Given the description of an element on the screen output the (x, y) to click on. 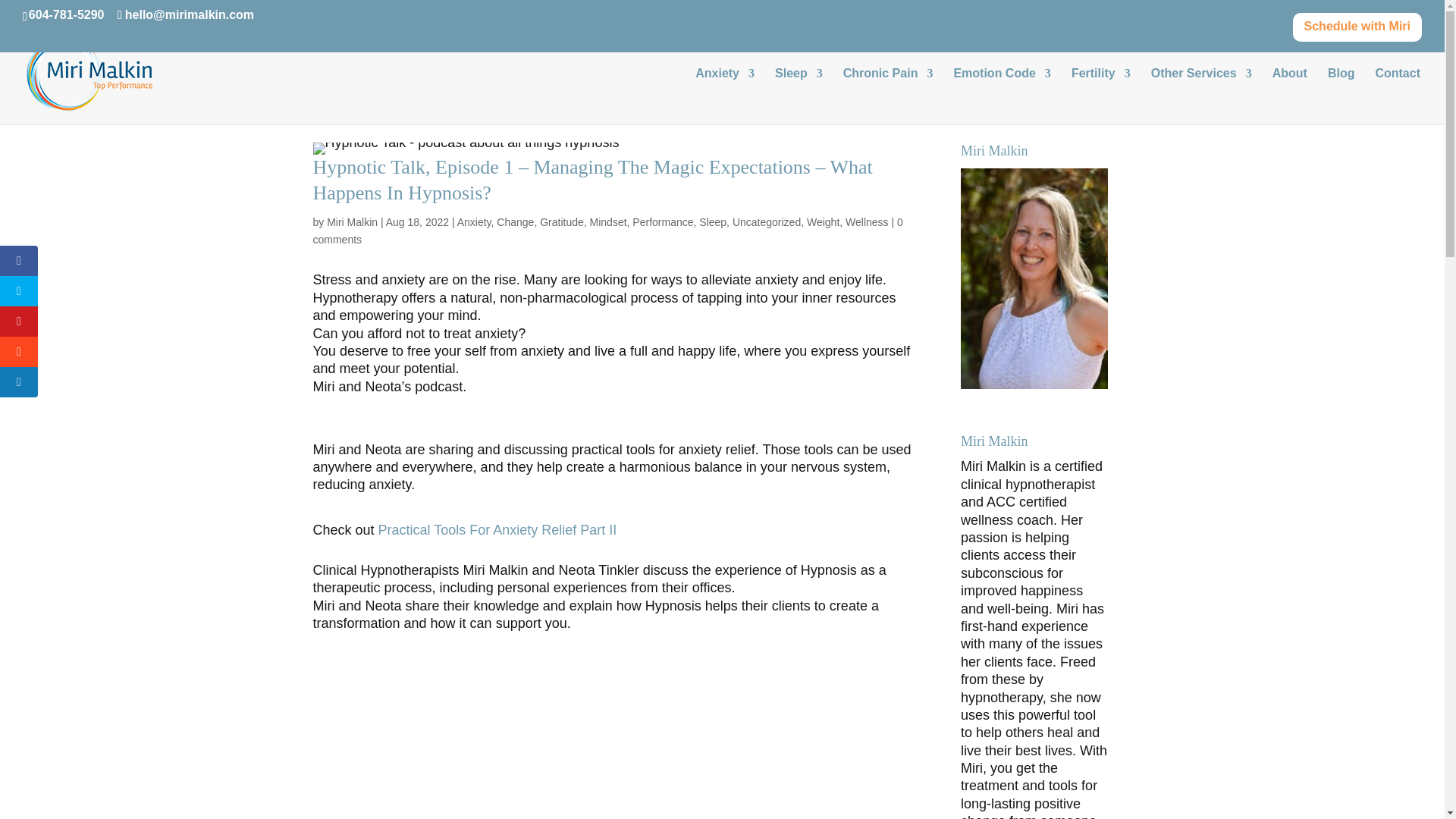
Emotion Code (1001, 95)
Chronic Pain (888, 95)
Schedule with Miri (1357, 30)
Anxiety (928, 92)
Miri Malkin (351, 222)
Other Services (1201, 95)
hypnotic-talk-episode-1 (465, 148)
Posts by Miri Malkin (351, 222)
Home (884, 92)
